Given the description of an element on the screen output the (x, y) to click on. 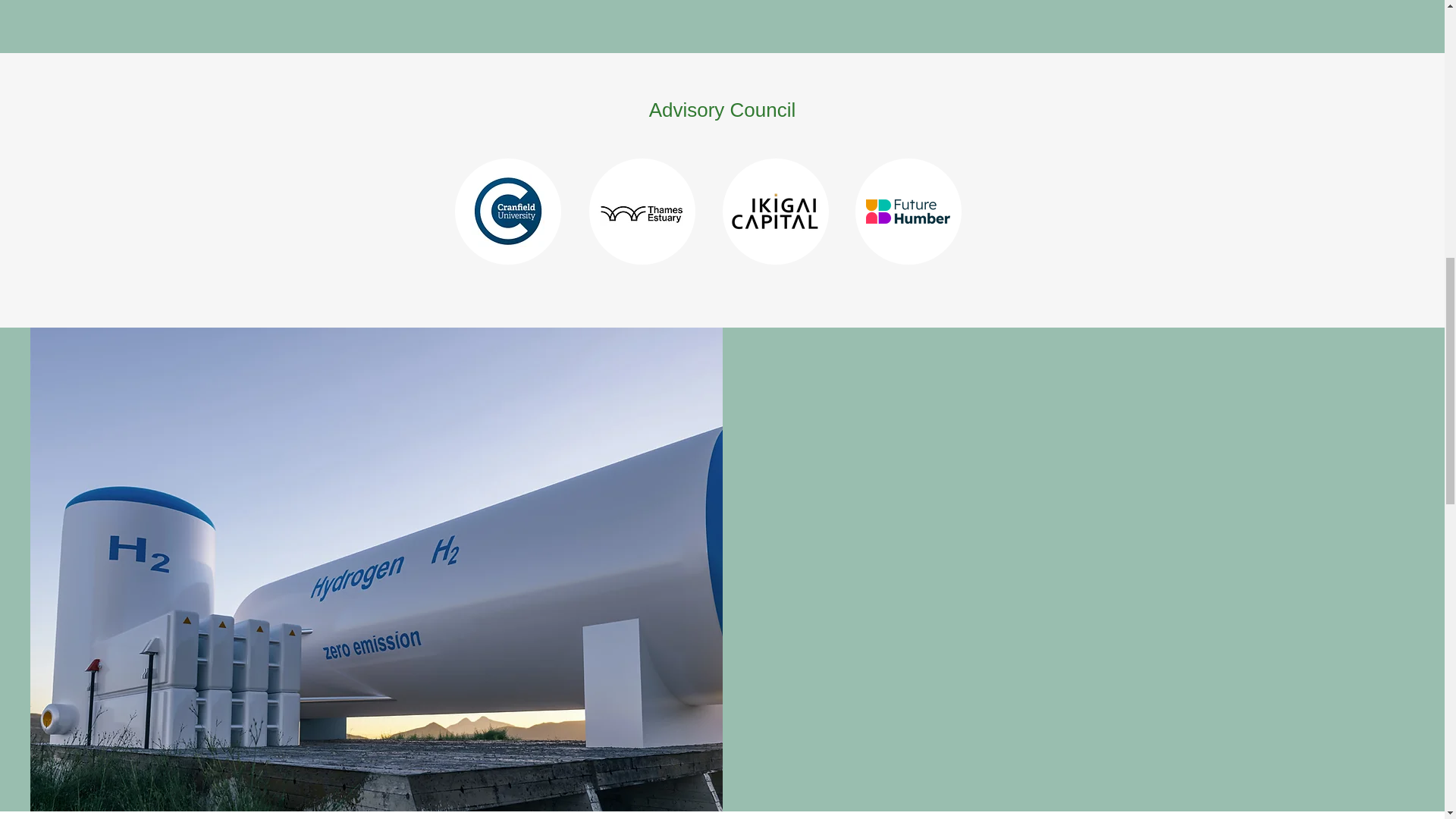
Thames-Estuary-logo.png (640, 210)
ikigia-capital.png (774, 211)
Cranfield.png (507, 210)
